Given the description of an element on the screen output the (x, y) to click on. 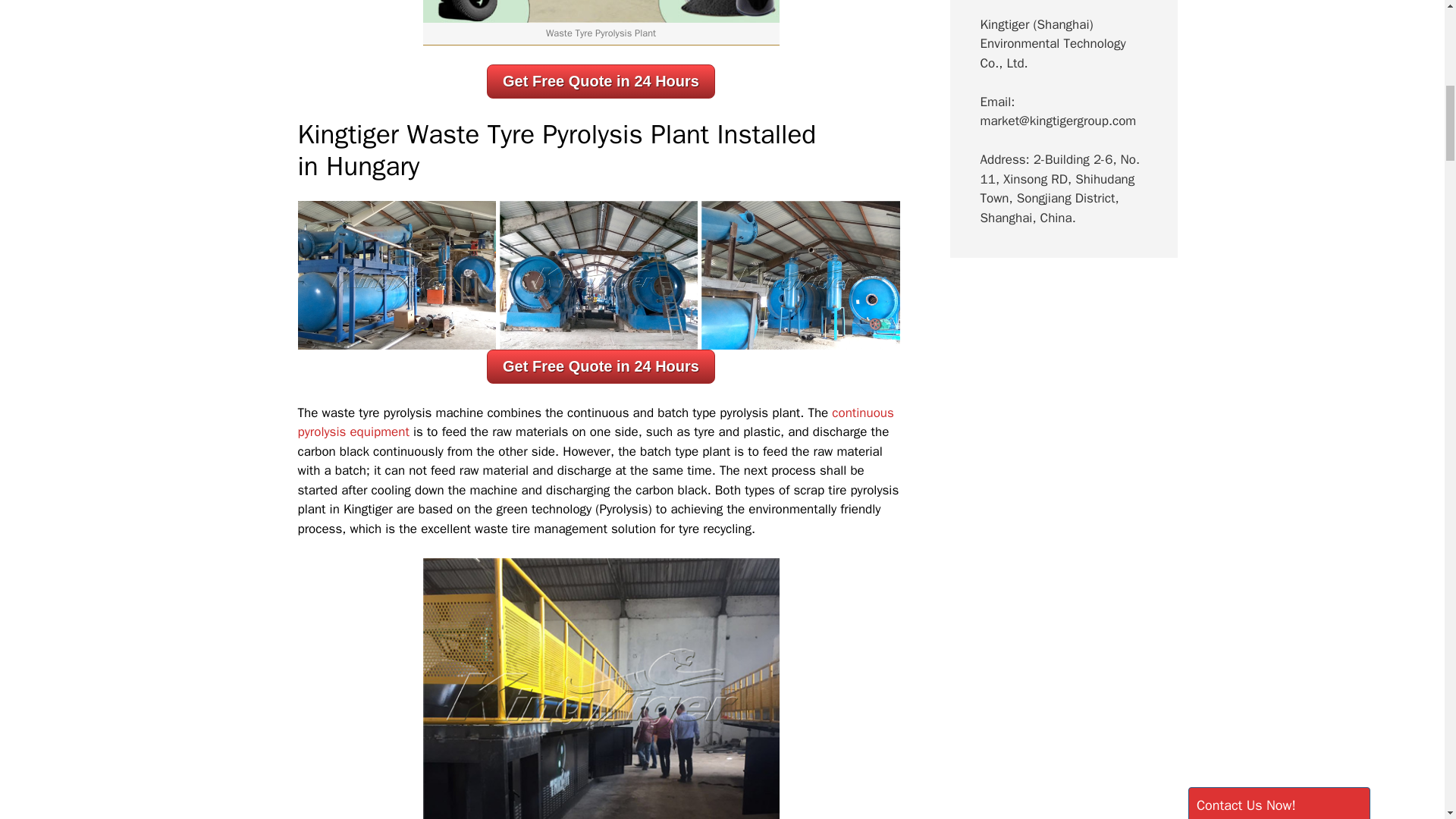
continuous pyrolysis equipment (595, 422)
Send (1226, 646)
Get Free Quote in 24 Hours (600, 80)
Get Free Quote in 24 Hours (600, 365)
